Given the description of an element on the screen output the (x, y) to click on. 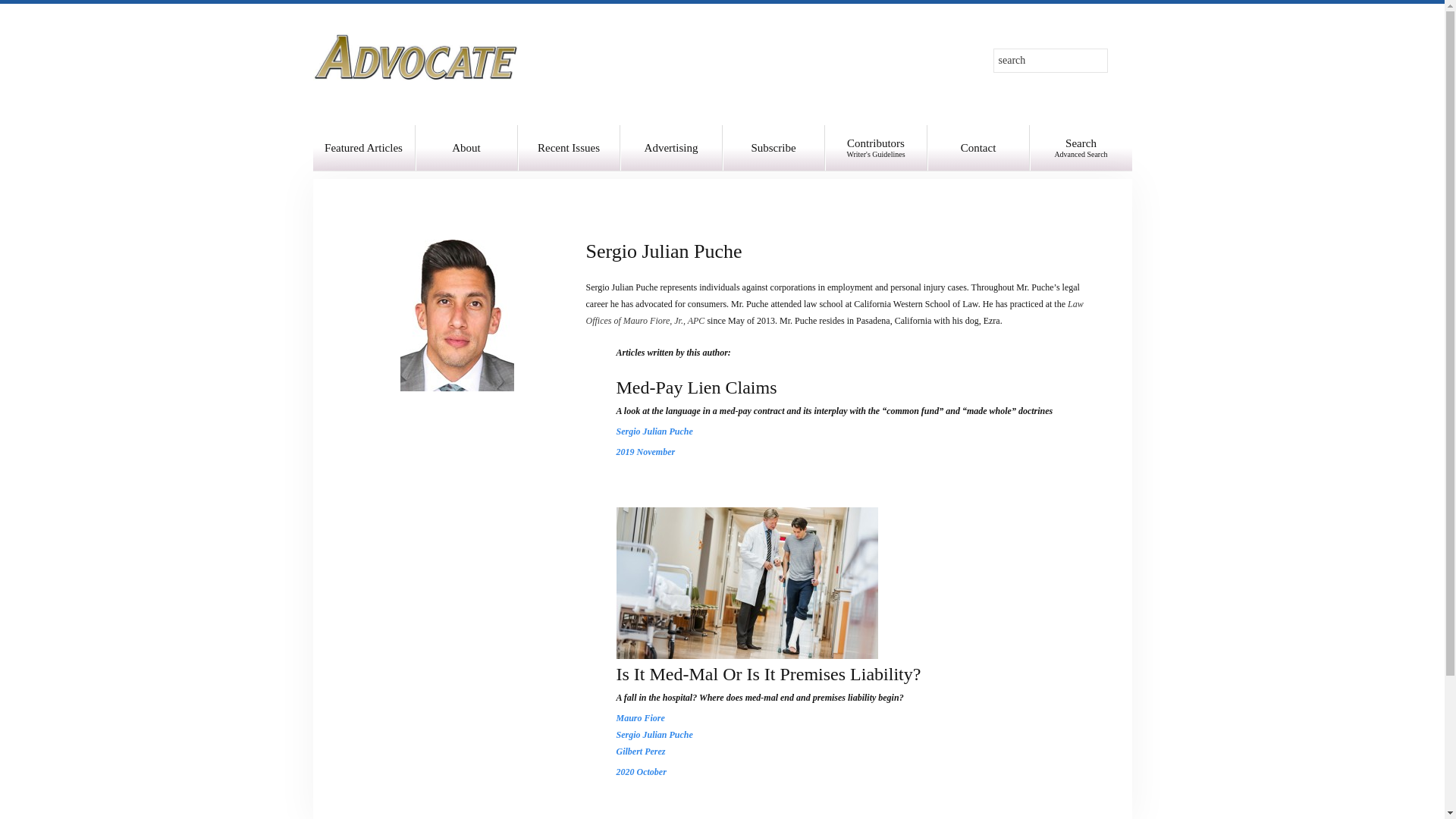
Recent Issues (568, 147)
Gilbert Perez (640, 751)
About (1080, 147)
Sergio Julian Puche (466, 147)
Med-Pay Lien Claims (654, 430)
Sergio Julian Puche (695, 387)
Sergio Julian Puche (654, 430)
Is it med-mal or is it premises liability? (654, 734)
Med-pay lien claims (746, 582)
